Given the description of an element on the screen output the (x, y) to click on. 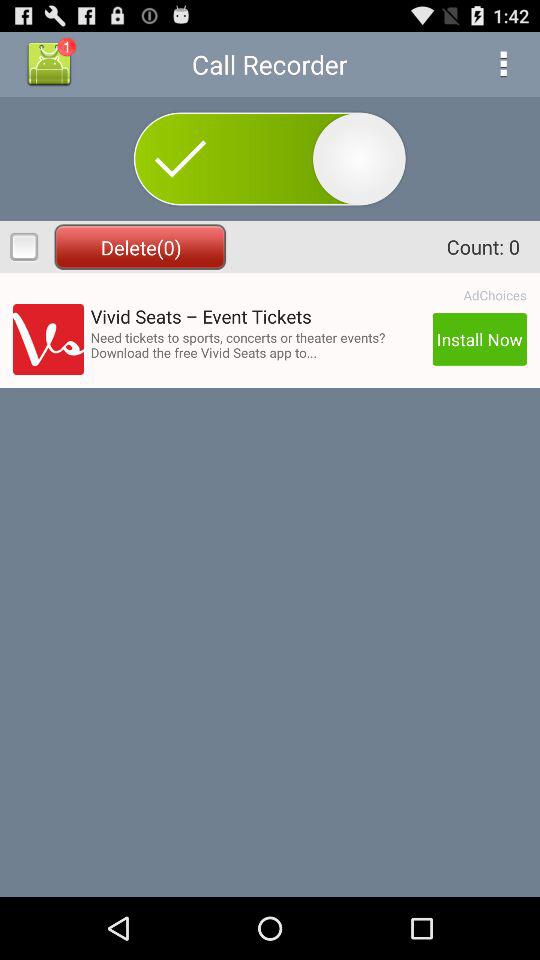
flip to delete(0) button (140, 246)
